Given the description of an element on the screen output the (x, y) to click on. 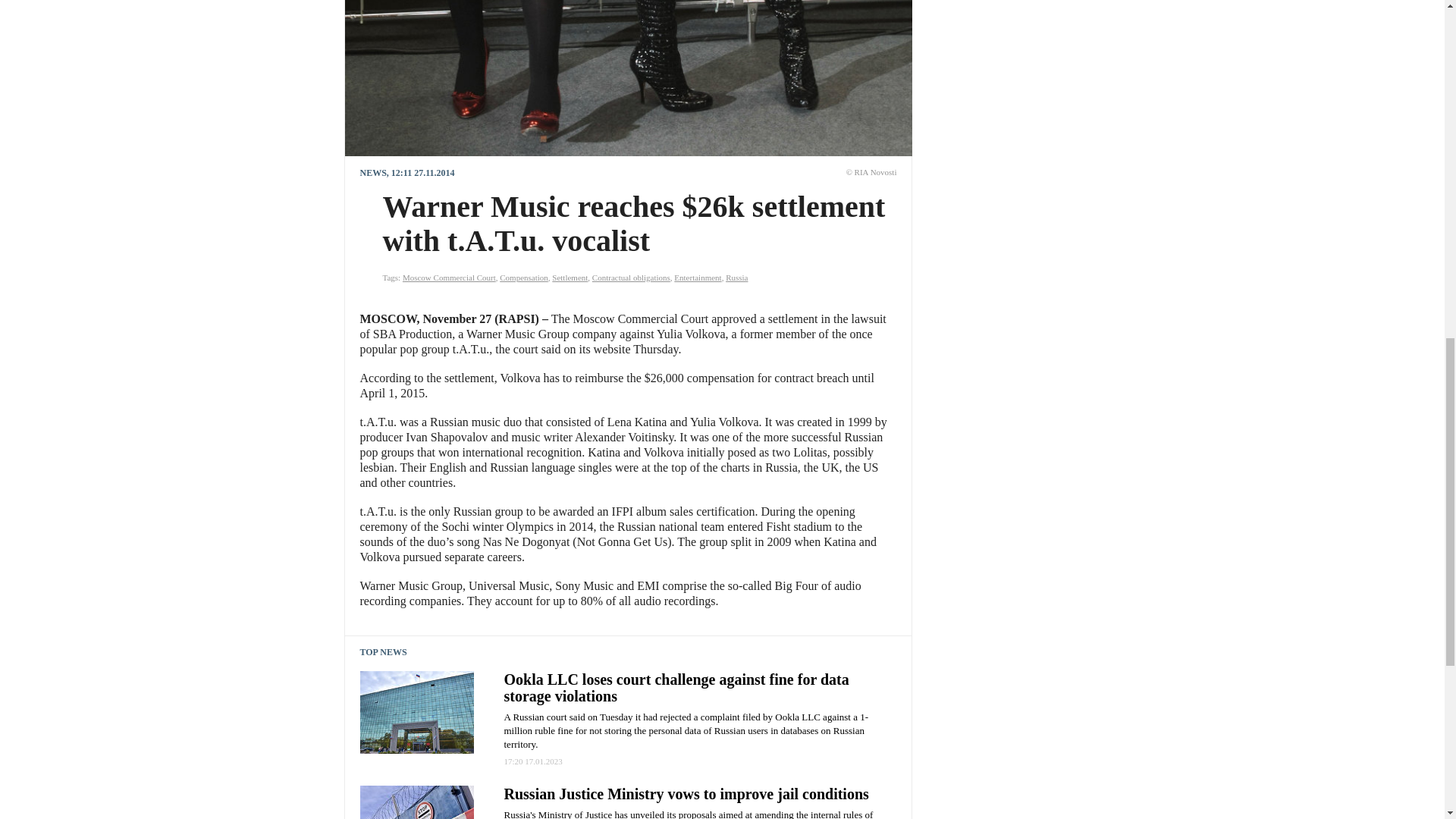
Compensation (523, 276)
Settlement (569, 276)
Russian Justice Ministry vows to improve jail conditions (685, 793)
Moscow Commercial Court (449, 276)
Entertainment (697, 276)
Russia (736, 276)
Contractual obligations (630, 276)
